Given the description of an element on the screen output the (x, y) to click on. 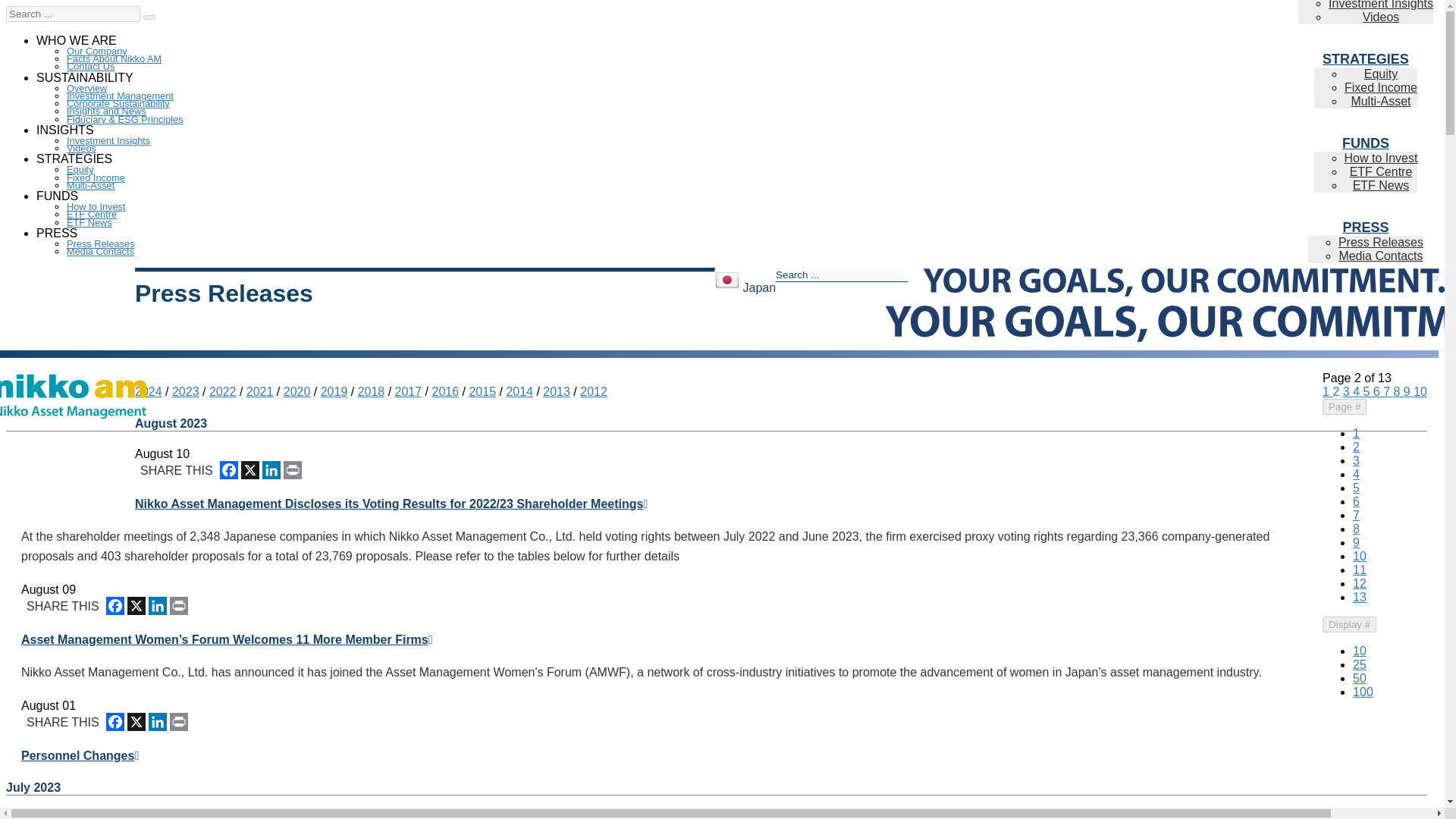
Facts About Nikko AM (113, 58)
Investment Insights (107, 140)
Multi-Asset (90, 184)
Corporate Sustainability (118, 102)
Overview (86, 88)
Our Company (97, 50)
Equity (80, 169)
Insights and News (106, 111)
Go (148, 17)
Media Contacts (99, 251)
Fixed Income (95, 177)
How to Invest (95, 206)
Japan (726, 279)
ETF News (89, 222)
ETF Centre (91, 214)
